Given the description of an element on the screen output the (x, y) to click on. 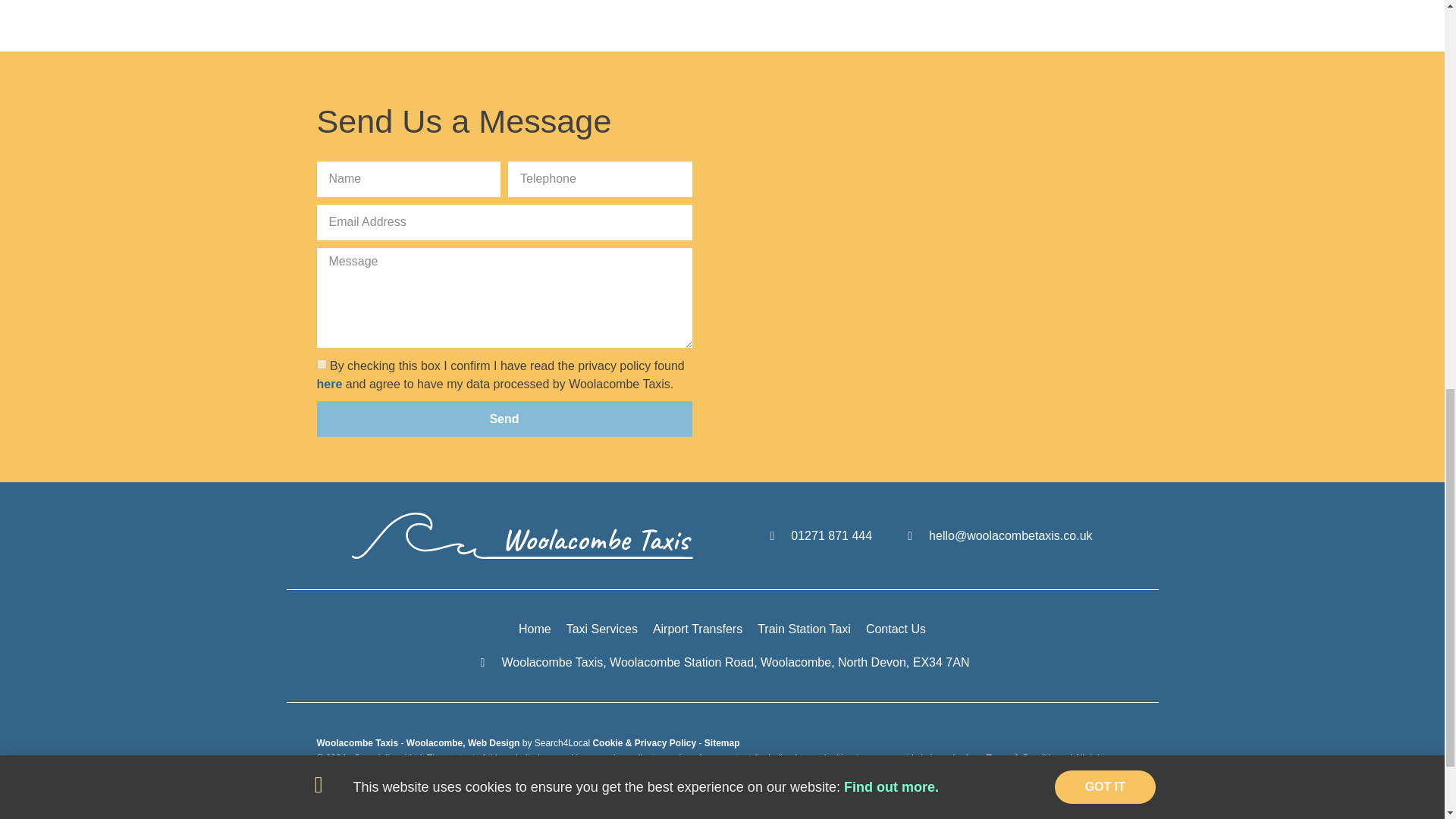
Woolacombe Taxis (359, 742)
Home (534, 628)
01271 871 444 (818, 536)
Train Station Taxi (803, 628)
Sitemap (721, 742)
Contact Us (896, 628)
on (321, 364)
Taxi Services (601, 628)
here (329, 383)
Airport Transfers (697, 628)
Send (505, 418)
Woolacombe, Web Design (464, 742)
